Given the description of an element on the screen output the (x, y) to click on. 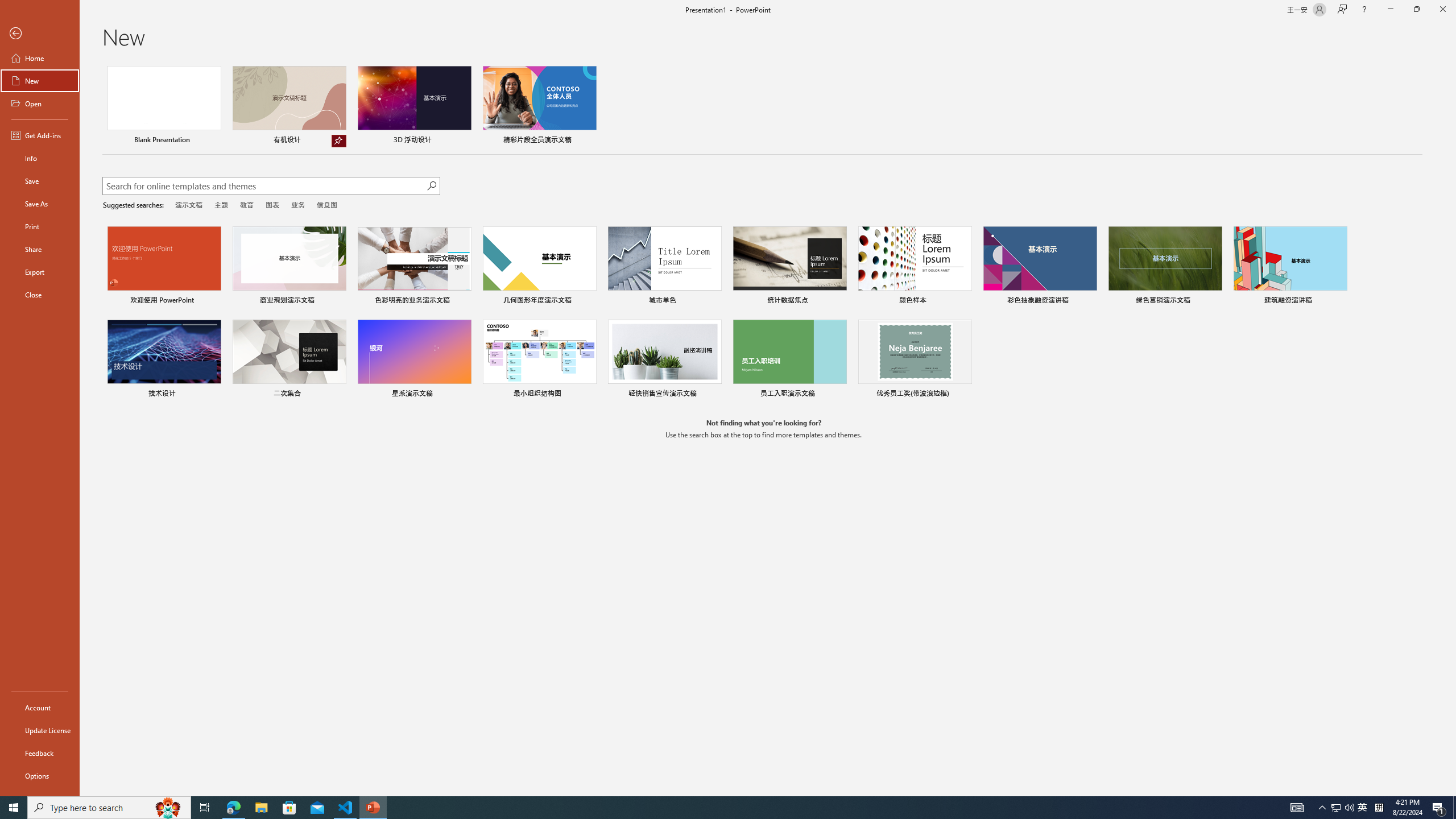
Feedback (40, 753)
Start searching (431, 185)
Export (40, 271)
Back (40, 33)
Class: NetUIScrollBar (1450, 428)
